Given the description of an element on the screen output the (x, y) to click on. 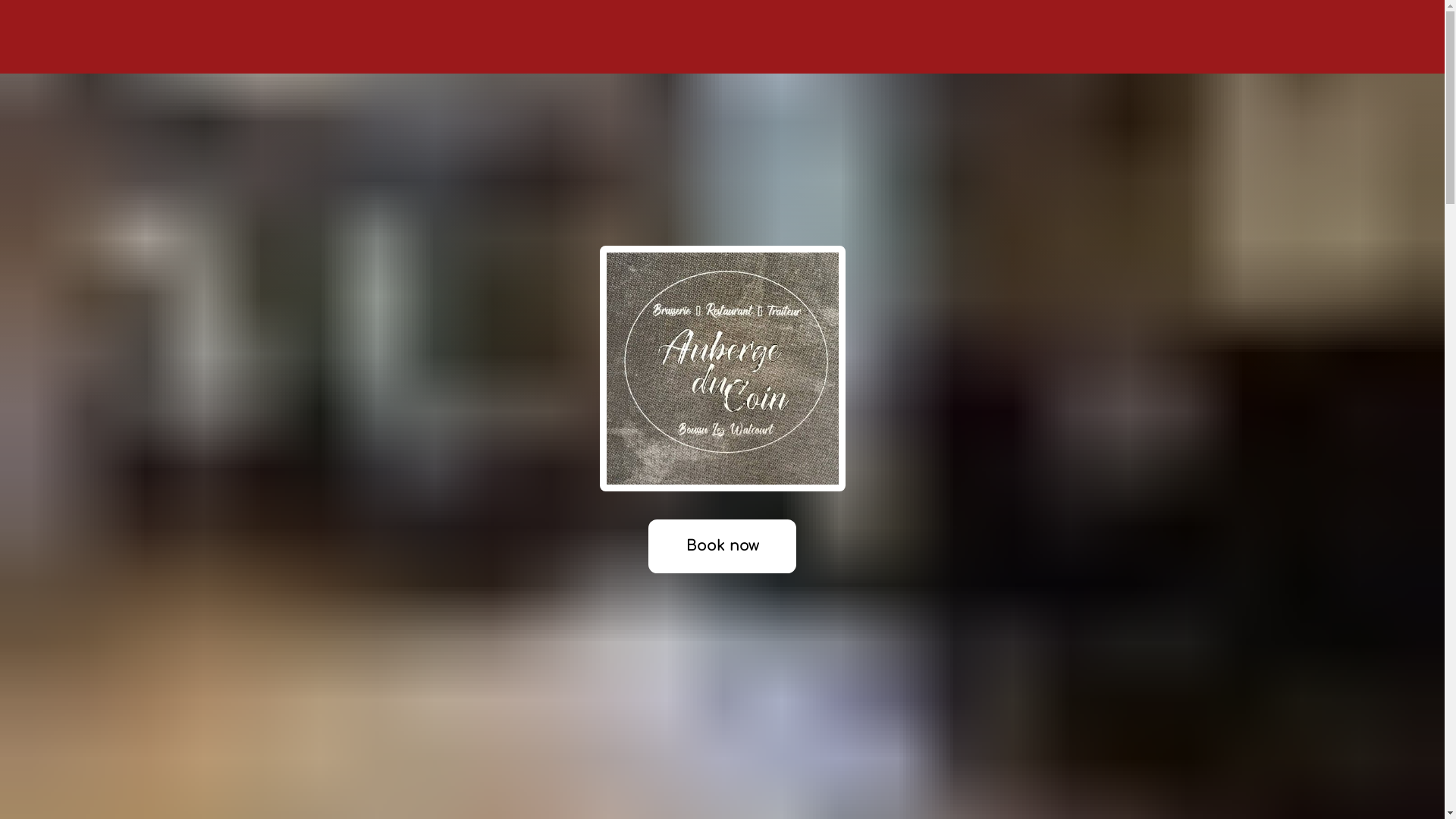
AUBERGE DU COIN Element type: text (721, 36)
Book now Element type: text (721, 546)
